Given the description of an element on the screen output the (x, y) to click on. 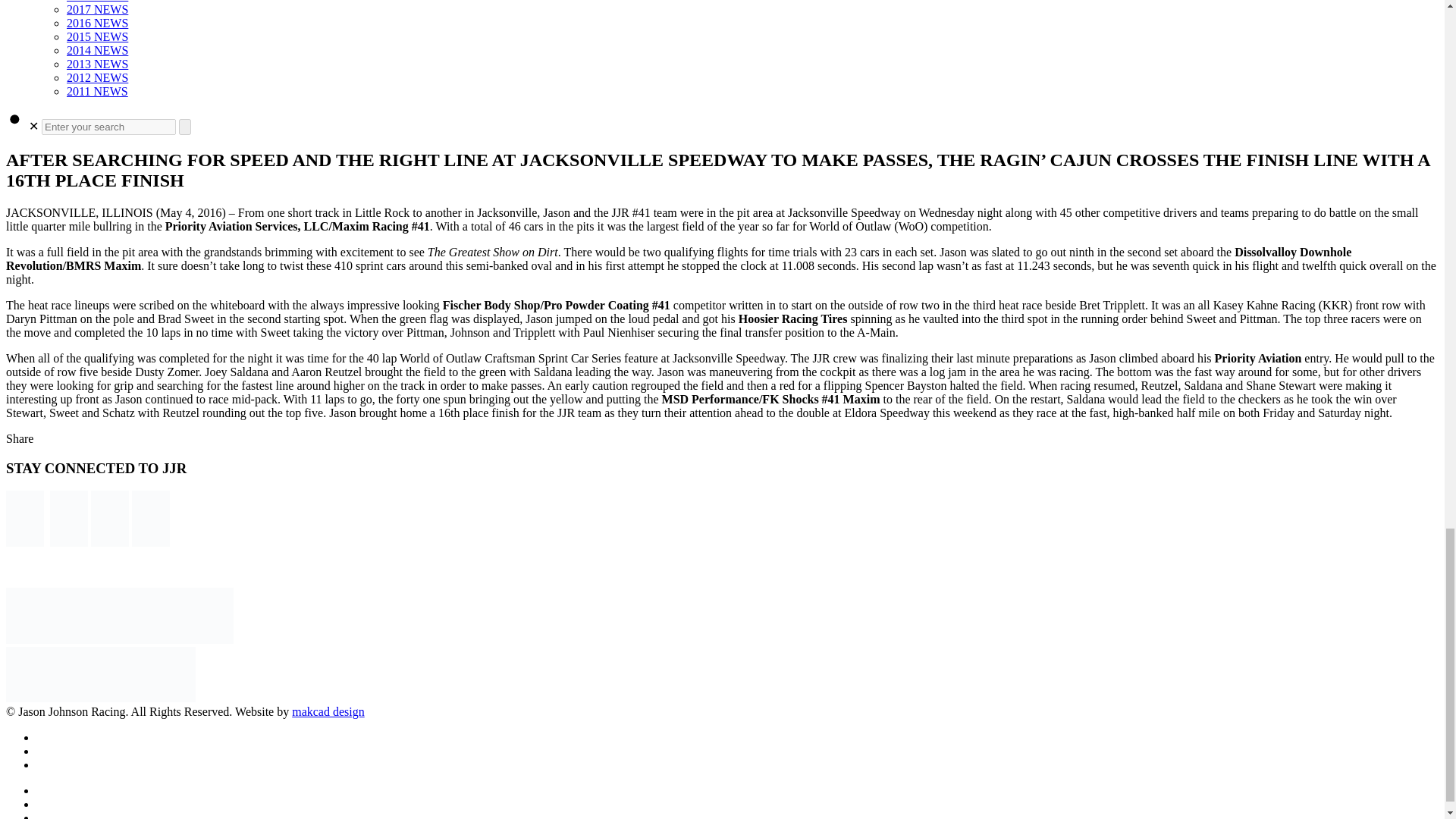
2011 NEWS (97, 91)
2018 NEWS (97, 1)
2016 NEWS (97, 22)
2013 NEWS (97, 63)
2014 NEWS (97, 50)
2012 NEWS (97, 77)
2017 NEWS (97, 9)
makcad design (328, 711)
2015 NEWS (97, 36)
